Given the description of an element on the screen output the (x, y) to click on. 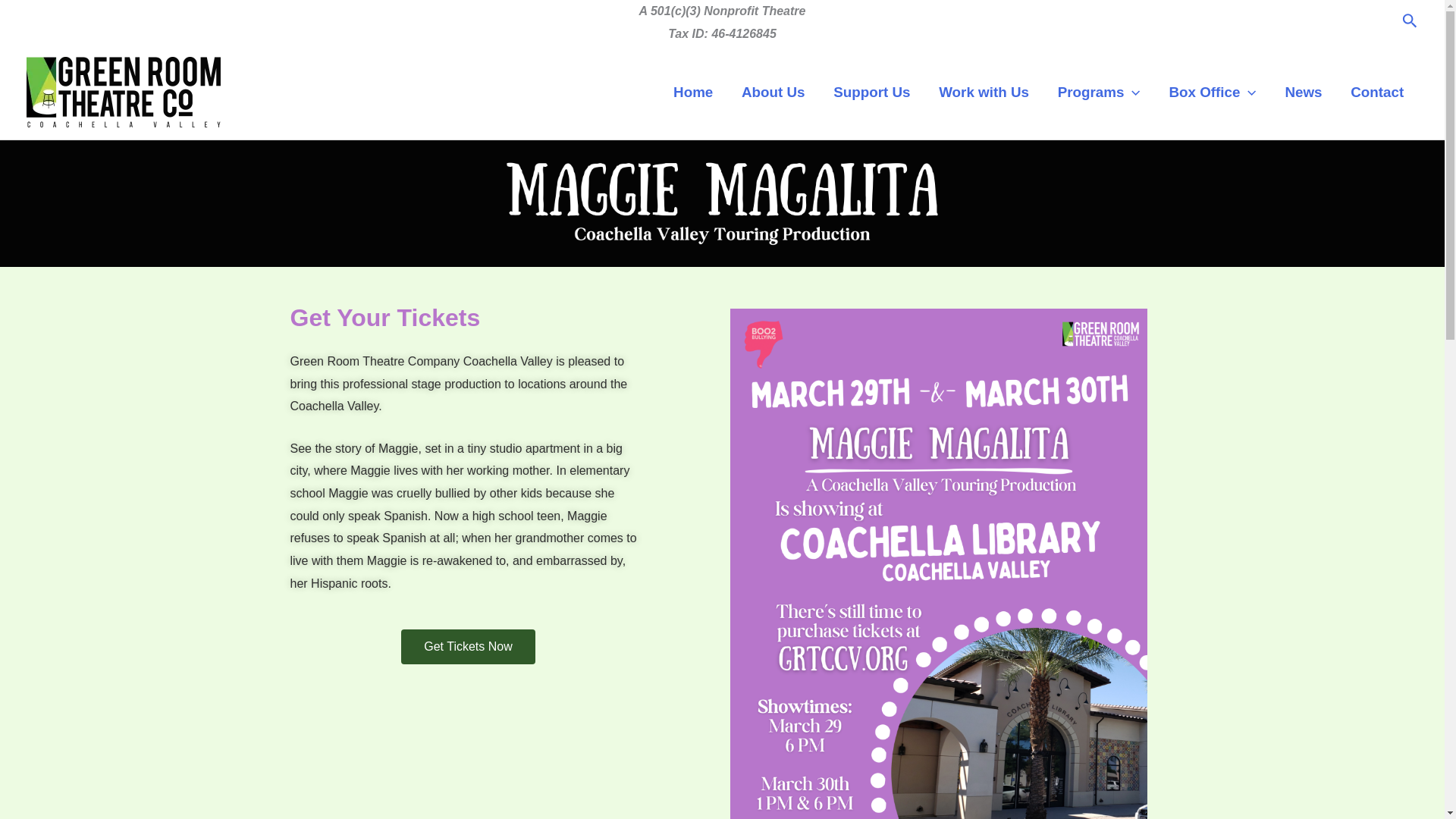
Support Us (871, 92)
Home (692, 92)
Get Tickets Now (467, 646)
Contact (1377, 92)
Programs (1098, 92)
News (1303, 92)
Work with Us (983, 92)
About Us (772, 92)
Box Office (1212, 92)
